Given the description of an element on the screen output the (x, y) to click on. 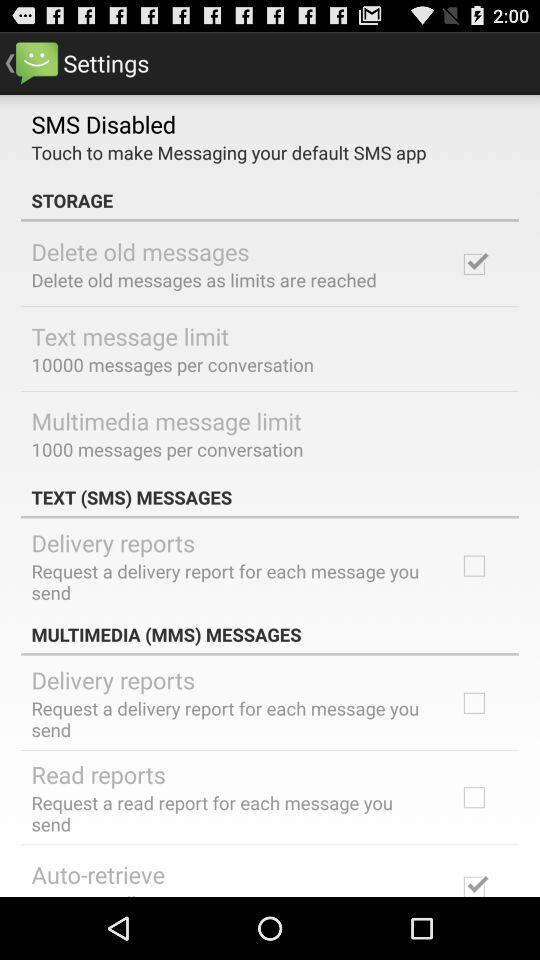
press the app above delivery reports (270, 497)
